Given the description of an element on the screen output the (x, y) to click on. 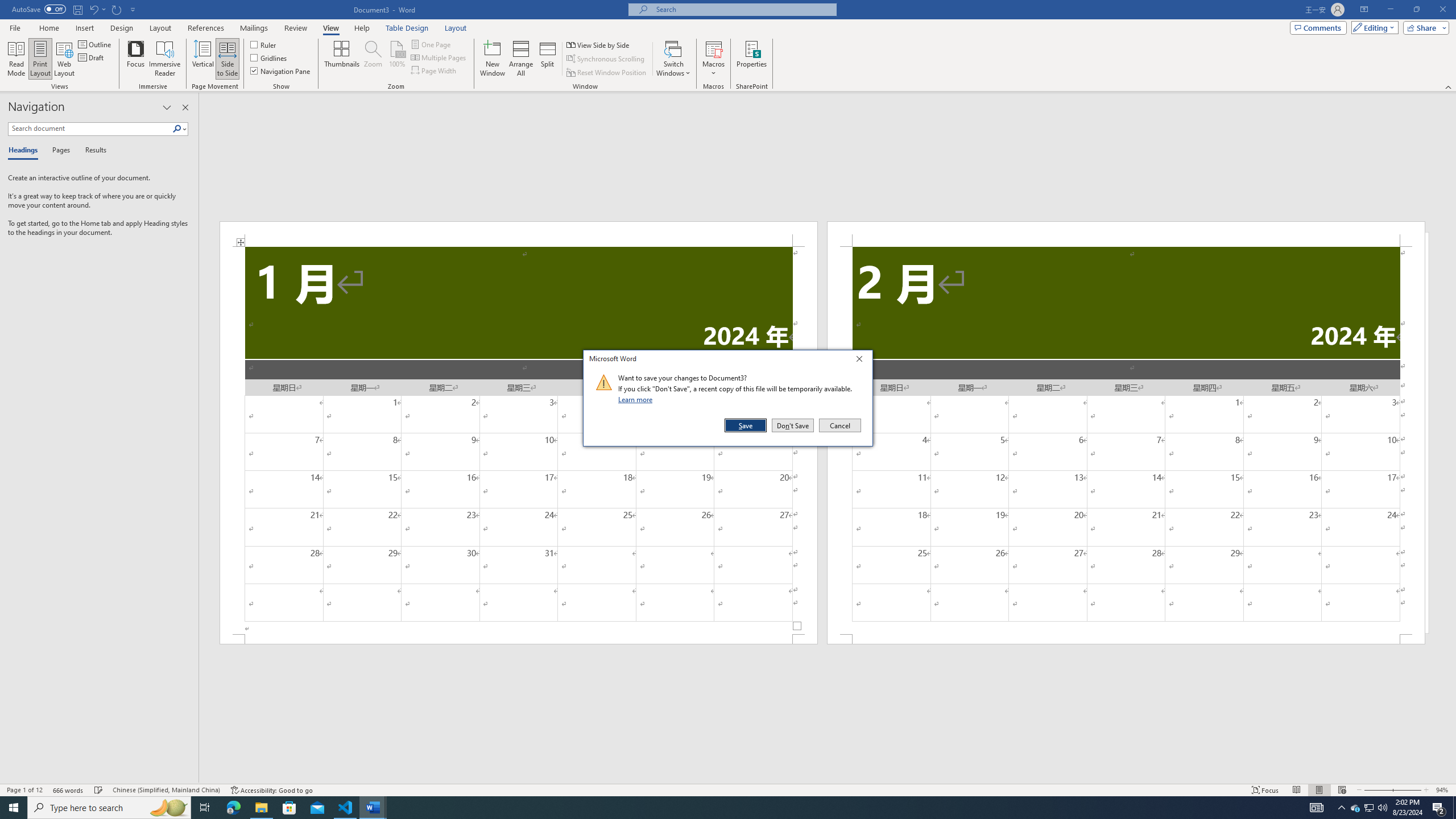
Microsoft Edge (233, 807)
Footer -Section 2- (1126, 638)
Don't Save (792, 425)
